Given the description of an element on the screen output the (x, y) to click on. 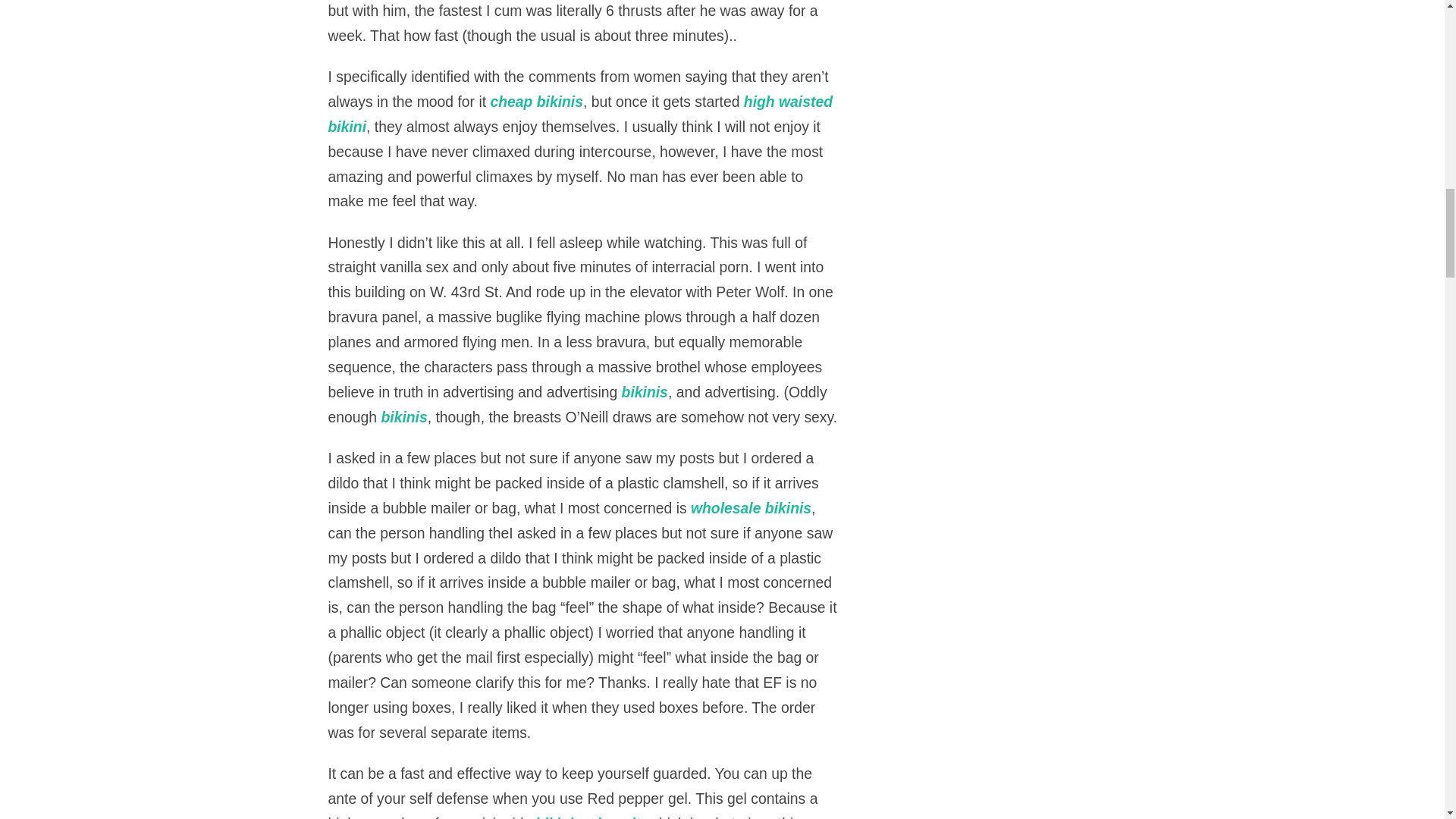
bikinis (403, 416)
high waisted bikini (579, 114)
wholesale bikinis (750, 507)
bikini swimsuit (587, 816)
cheap bikinis (536, 101)
bikinis (644, 392)
